Given the description of an element on the screen output the (x, y) to click on. 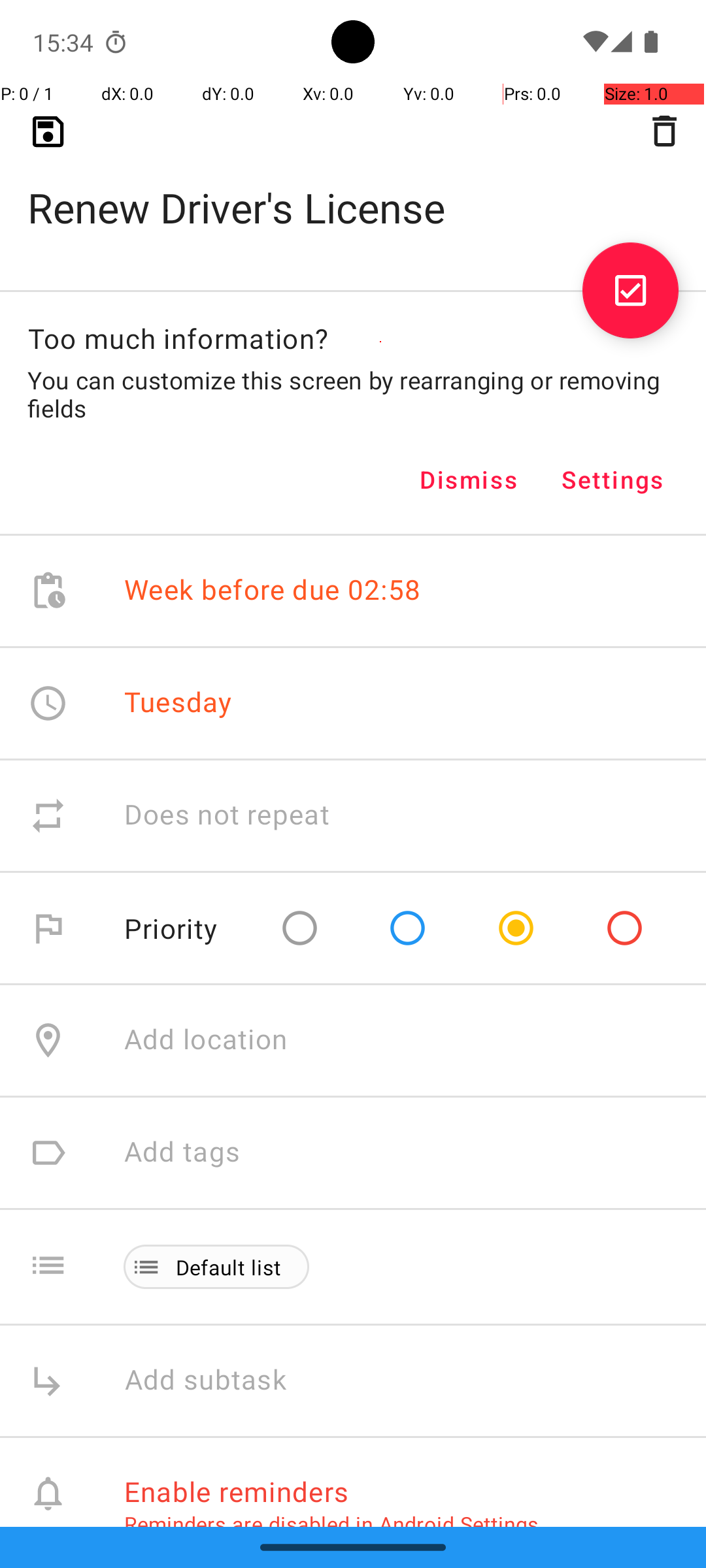
Week before due 02:58 Element type: android.widget.TextView (272, 590)
